Given the description of an element on the screen output the (x, y) to click on. 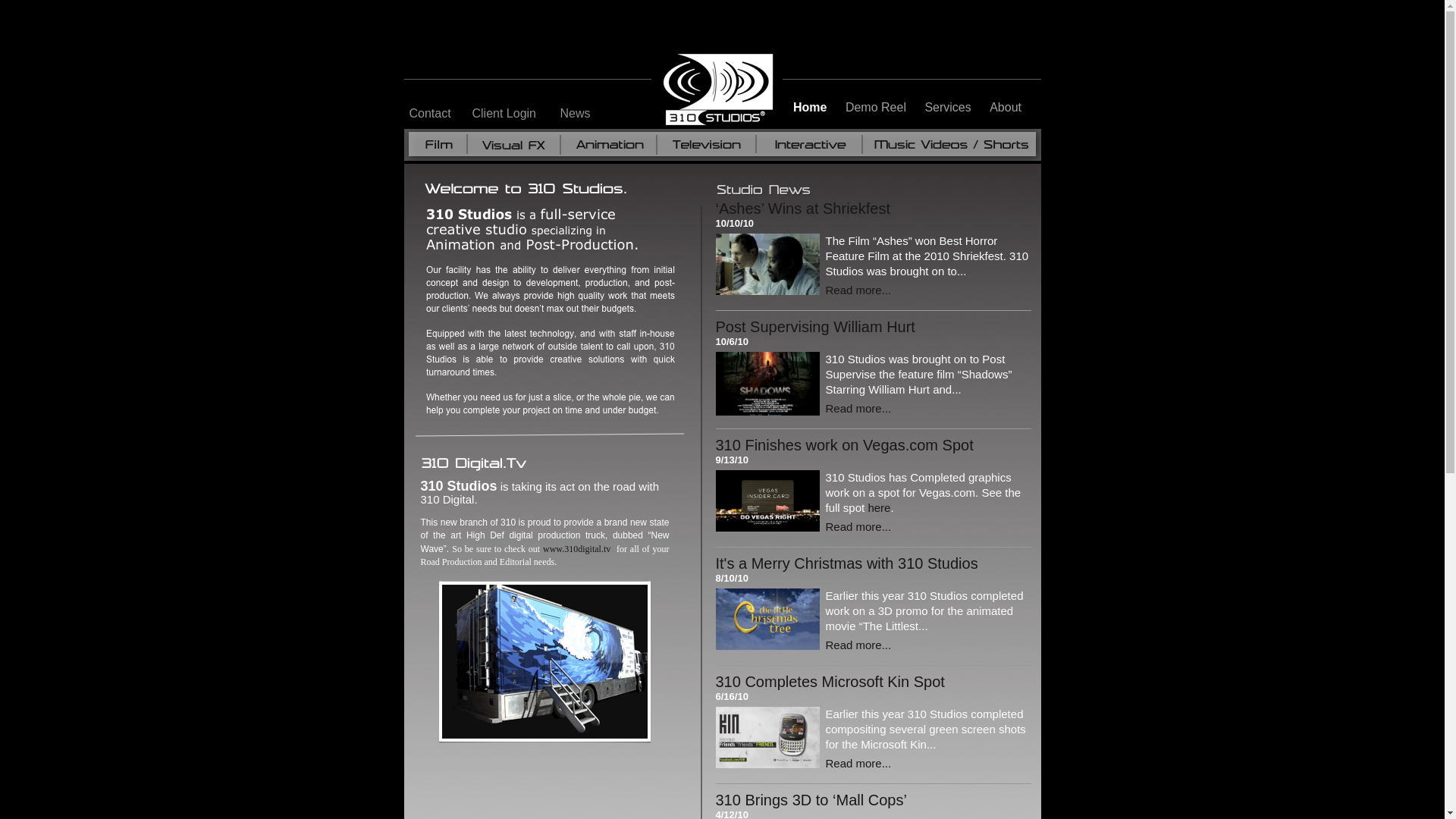
About Element type: text (1005, 106)
here Element type: text (878, 507)
It's a Merry Christmas with 310 Studios Element type: text (846, 563)
News Element type: text (574, 112)
Contact Element type: text (430, 112)
Demo Reel Element type: text (877, 106)
www.310digital.tv Element type: text (576, 548)
310 Finishes work on Vegas.com Spot Element type: text (844, 444)
Home Element type: text (811, 106)
Services Element type: text (949, 106)
310 Completes Microsoft Kin Spot Element type: text (829, 681)
Read more... Element type: text (858, 644)
Read more... Element type: text (858, 526)
Post Supervising William Hurt Element type: text (815, 326)
Read more... Element type: text (858, 289)
Read more... Element type: text (858, 762)
Read more... Element type: text (858, 407)
Client Login Element type: text (503, 112)
